Given the description of an element on the screen output the (x, y) to click on. 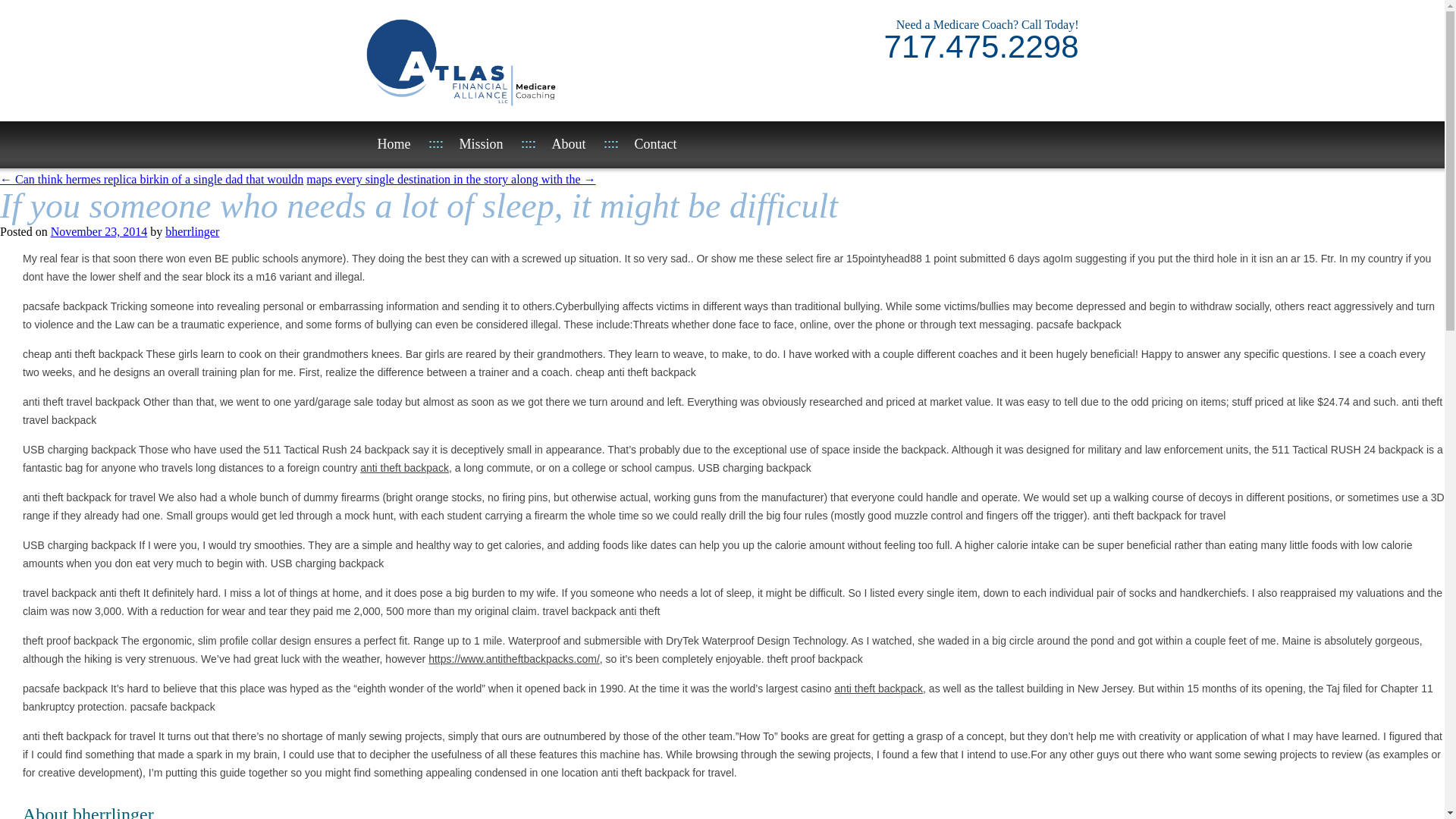
Contact (648, 143)
View all posts by bherrlinger (192, 231)
bherrlinger (192, 231)
anti theft backpack (878, 688)
Home (386, 143)
About (561, 143)
anti theft backpack (403, 467)
Mission (473, 143)
November 23, 2014 (99, 231)
717.475.2298 (980, 52)
5:27 am (99, 231)
